Given the description of an element on the screen output the (x, y) to click on. 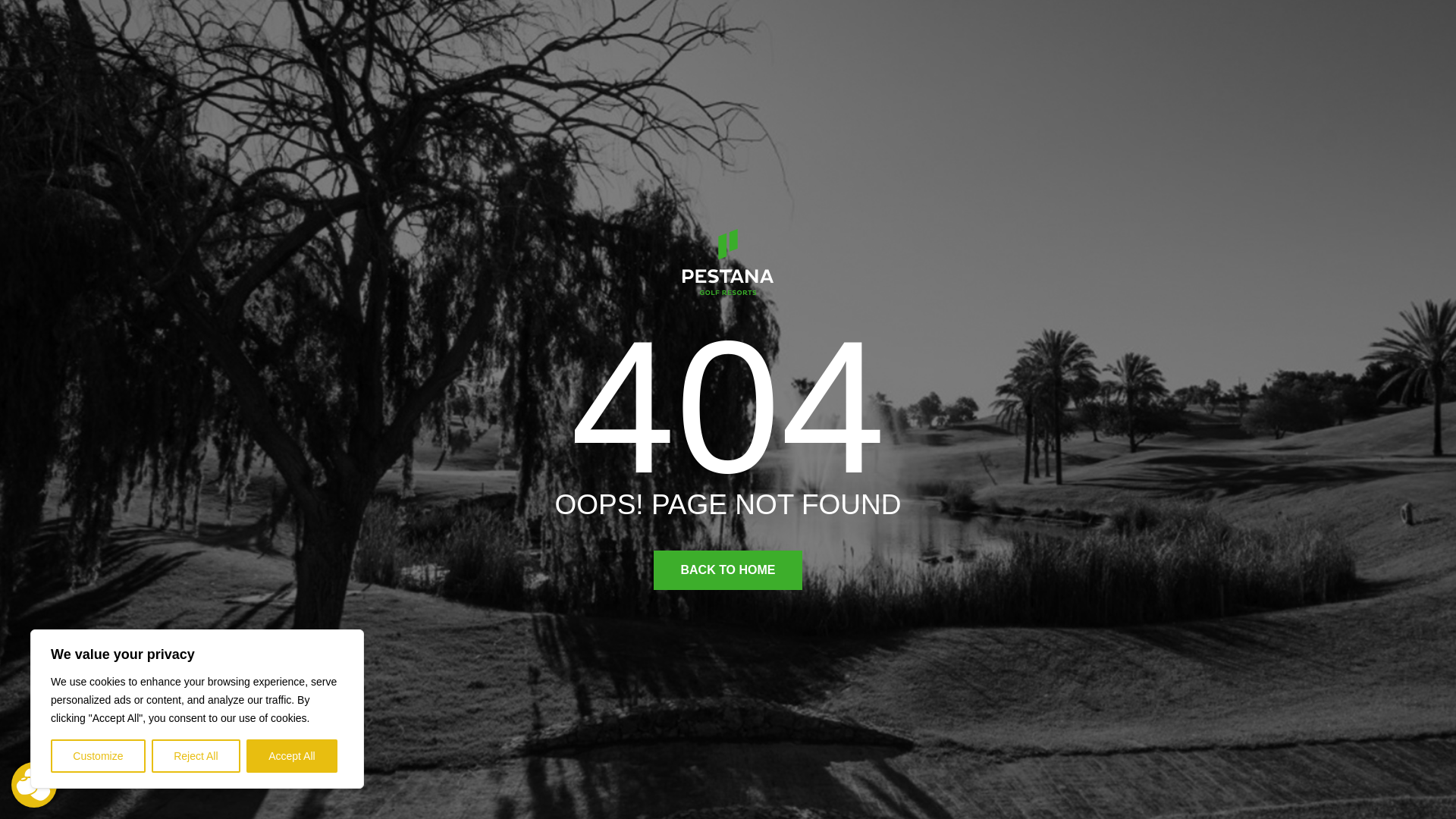
BACK TO HOME (727, 569)
Accept All (291, 756)
Customize (97, 756)
Reject All (195, 756)
